Given the description of an element on the screen output the (x, y) to click on. 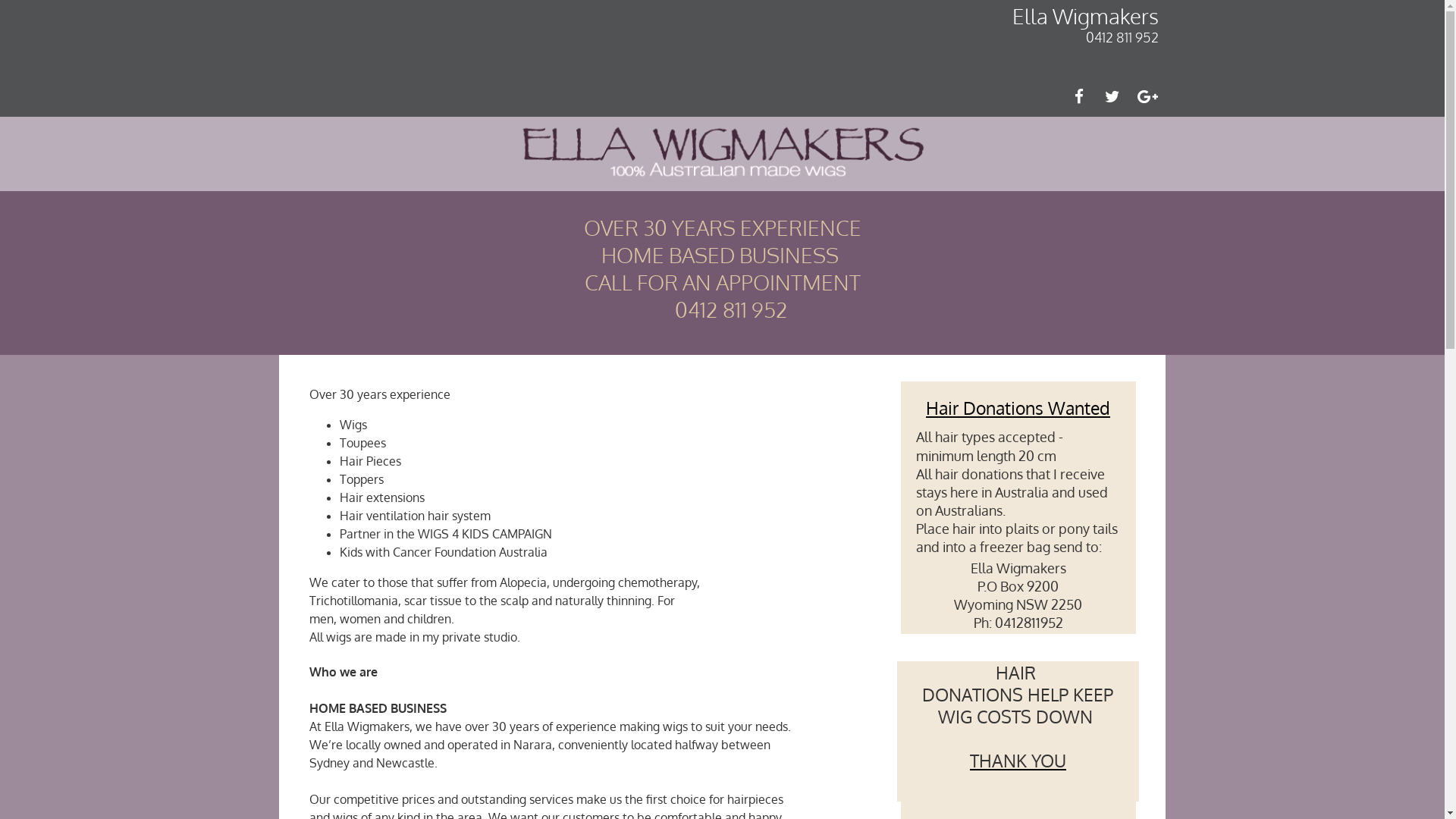
Ella Wigmakers logo Element type: hover (722, 153)
 0412 811 952 Element type: text (1120, 36)
